Given the description of an element on the screen output the (x, y) to click on. 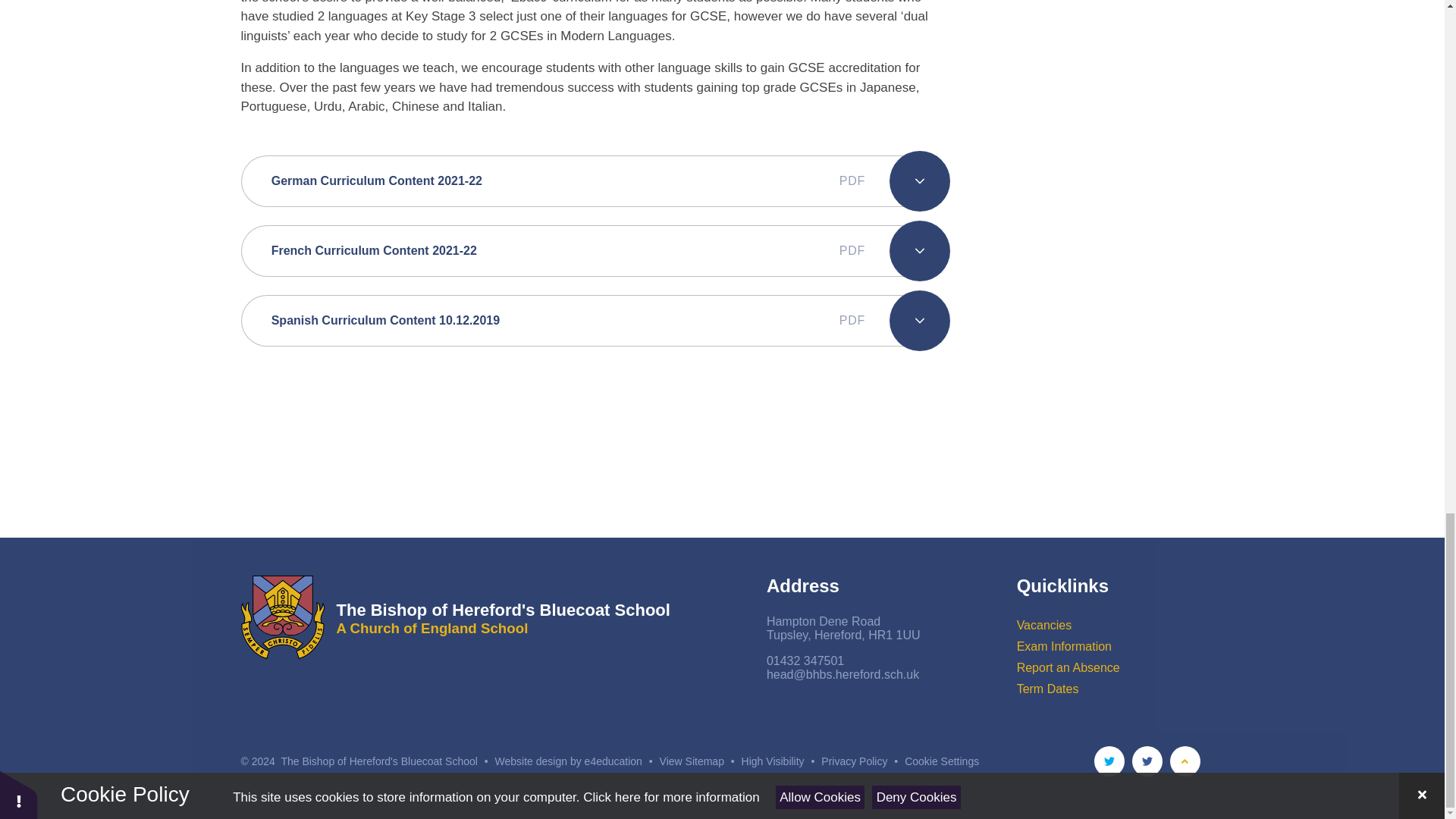
Cookie Settings (941, 761)
